Given the description of an element on the screen output the (x, y) to click on. 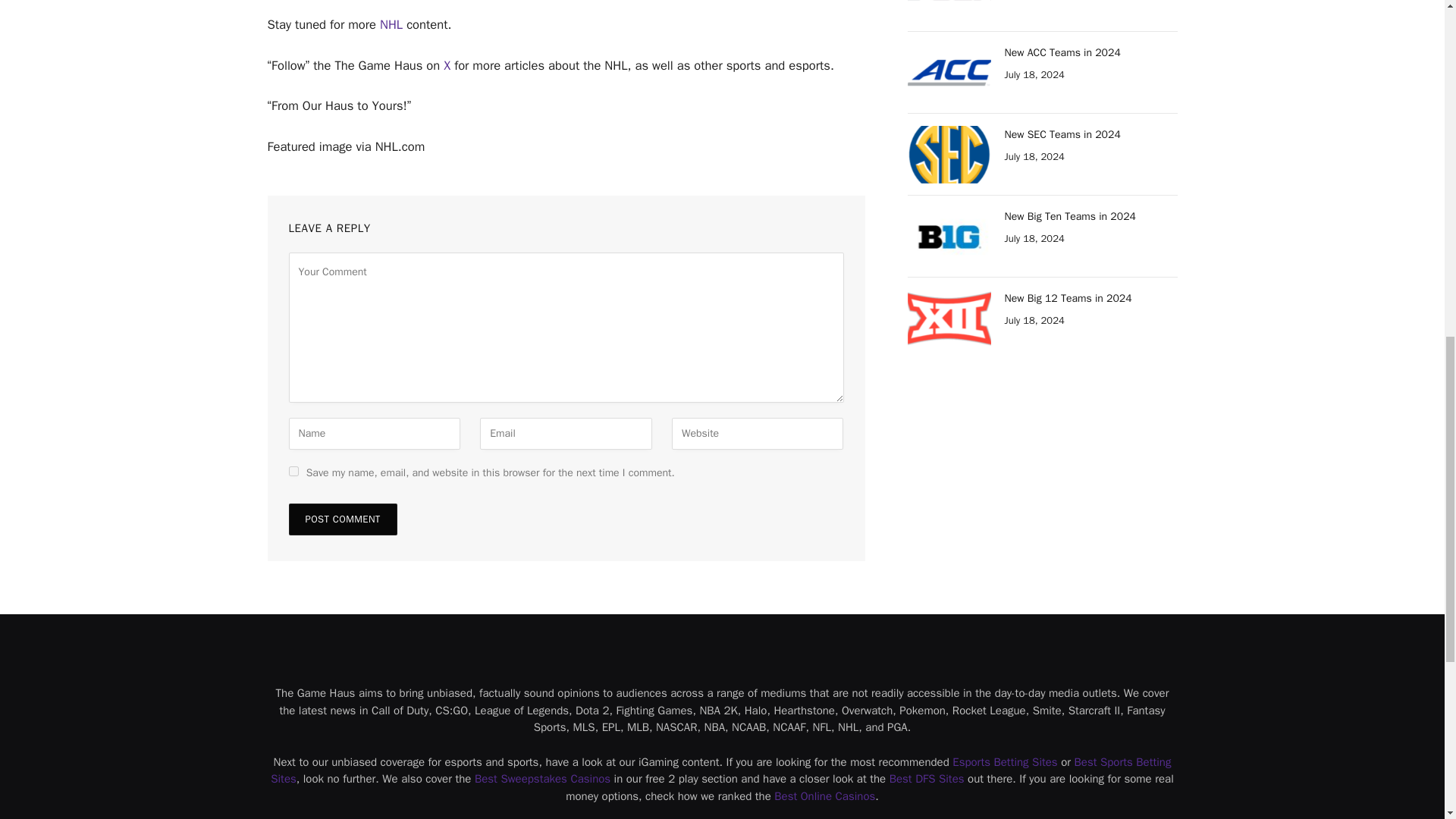
Post Comment (342, 519)
yes (293, 470)
